Given the description of an element on the screen output the (x, y) to click on. 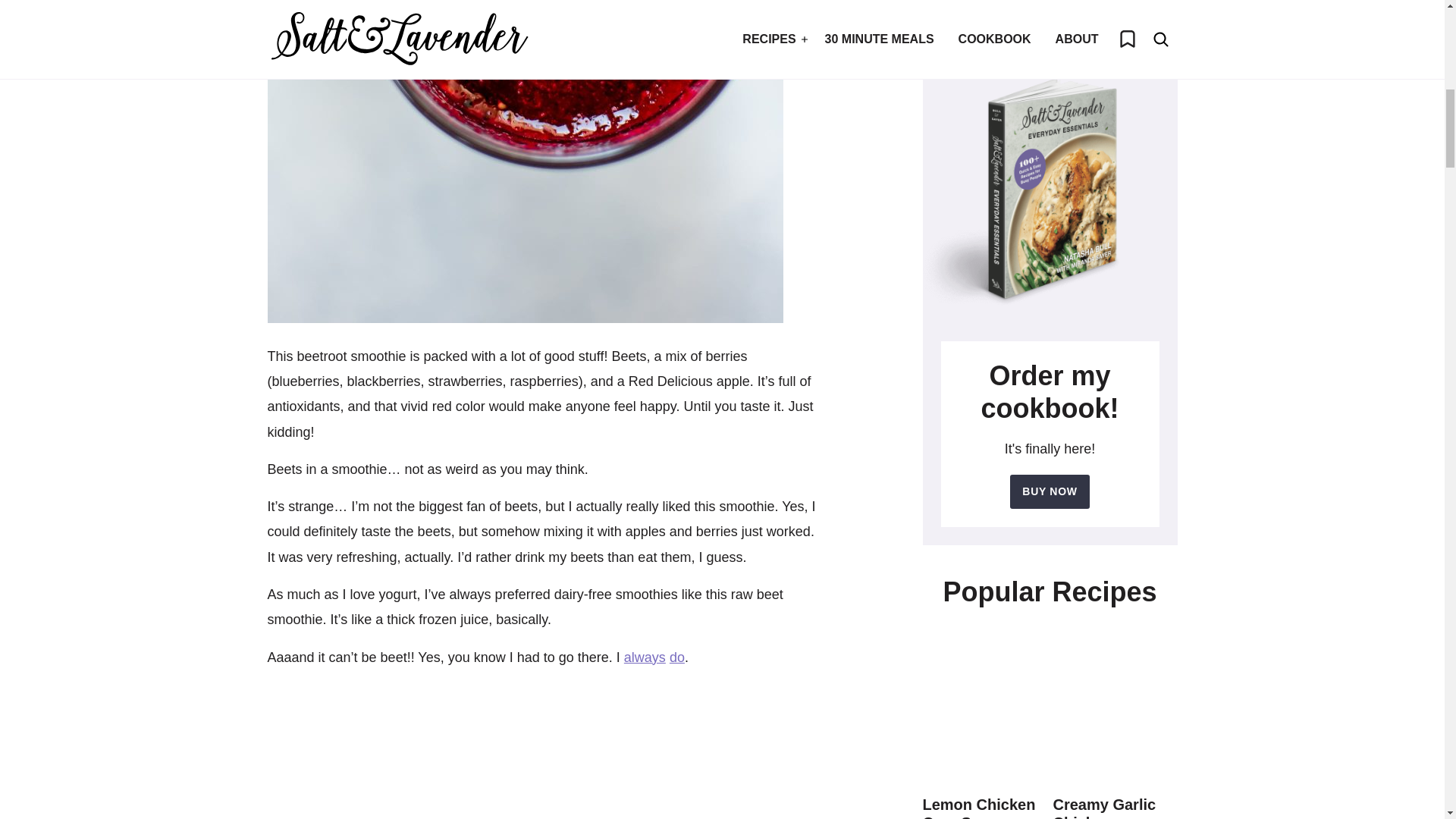
always (644, 657)
do (676, 657)
